Given the description of an element on the screen output the (x, y) to click on. 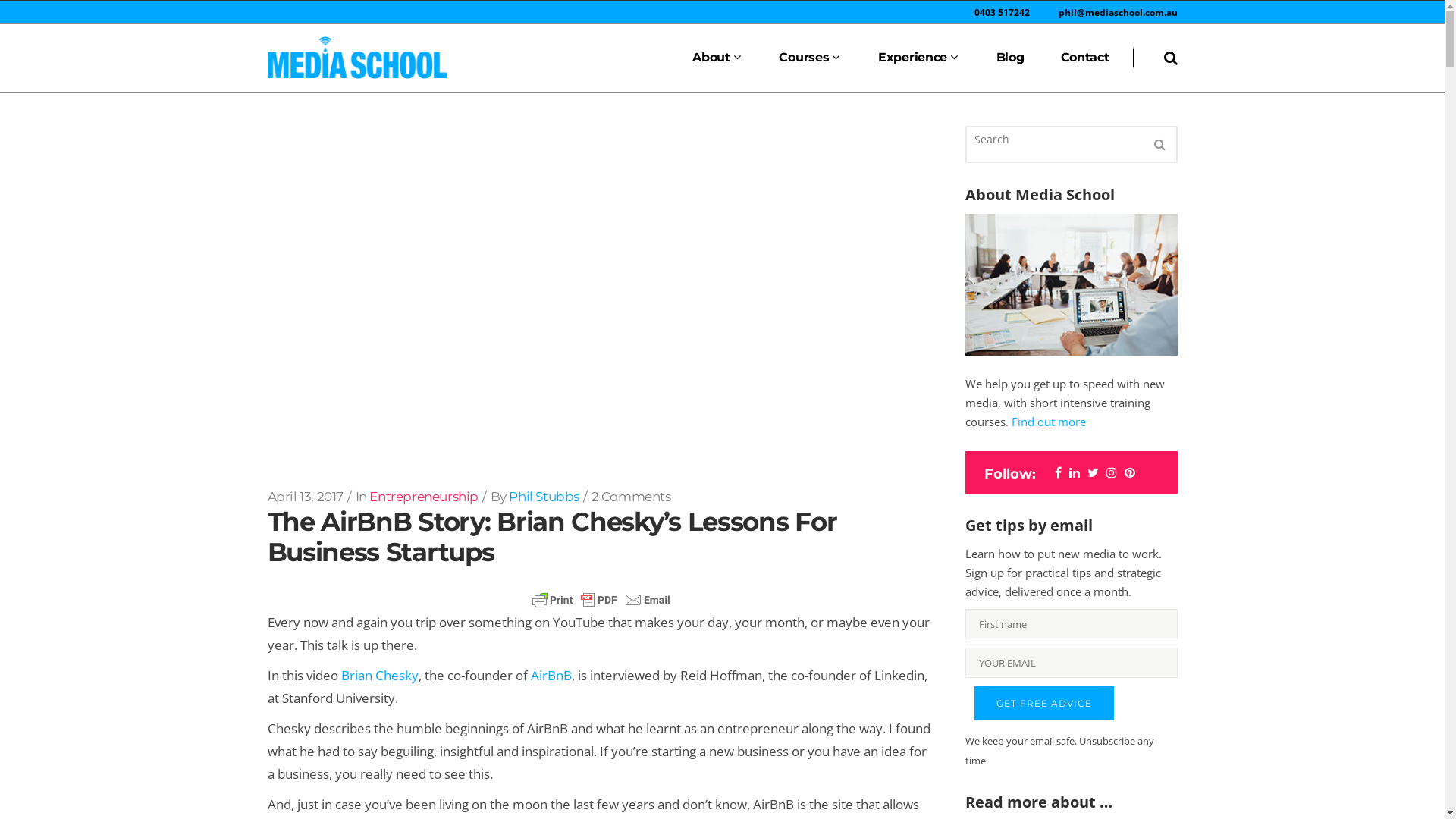
Printer Friendly, PDF & Email Element type: hover (600, 599)
2 Comments Element type: text (631, 496)
Blog Element type: text (1010, 57)
Courses Element type: text (809, 57)
Find out more Element type: text (1048, 421)
Brian Chesky Element type: text (379, 675)
Contact Element type: text (1084, 57)
Get free advice Element type: text (1043, 703)
phil@mediaschool.com.au Element type: text (1117, 12)
AirBnB Element type: text (550, 675)
About Element type: text (717, 57)
Entrepreneurship Element type: text (423, 496)
Experience Element type: text (918, 57)
Phil Stubbs Element type: text (543, 496)
